Given the description of an element on the screen output the (x, y) to click on. 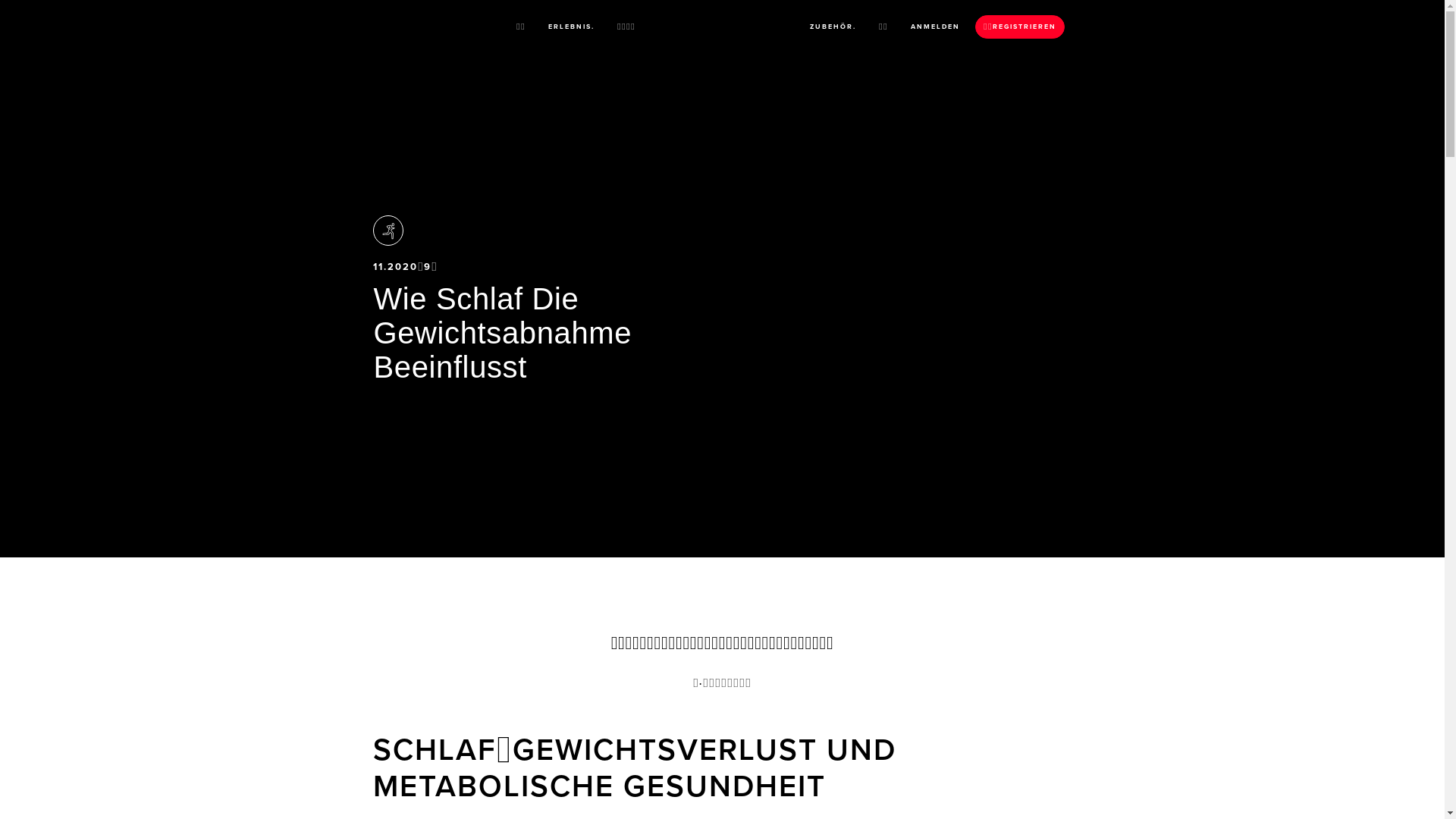
English Element type: hover (1408, 30)
ANMELDEN Element type: text (934, 26)
Deutsch Element type: hover (1392, 16)
ERLEBNIS. Element type: text (570, 26)
Deutsch Element type: hover (1392, 30)
